Given the description of an element on the screen output the (x, y) to click on. 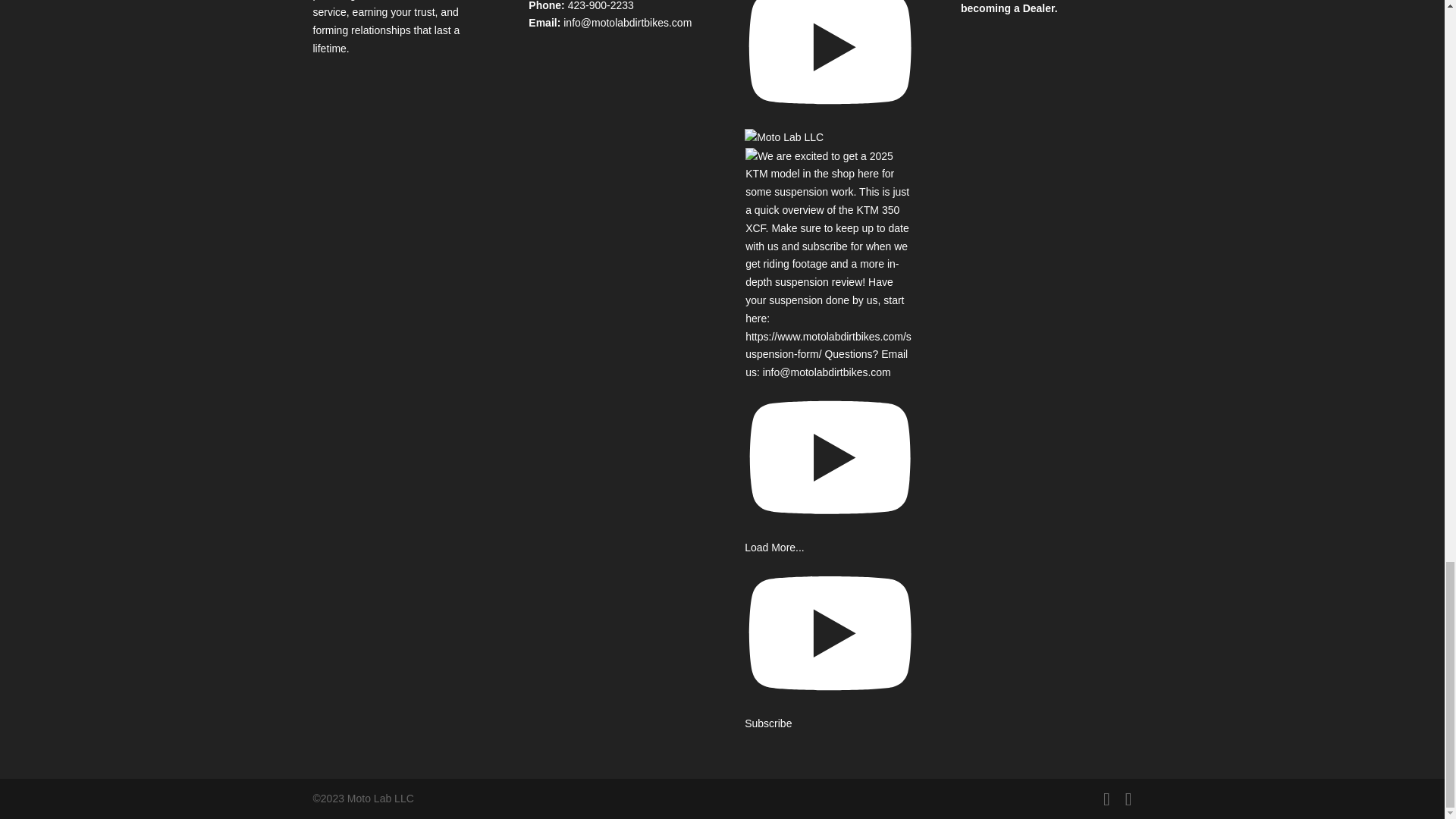
Moto Lab LLC (829, 73)
423-900-2233 (600, 5)
Click here to inquire about becoming a Dealer. (1027, 7)
Subscribe (829, 715)
Load More... (774, 547)
